Given the description of an element on the screen output the (x, y) to click on. 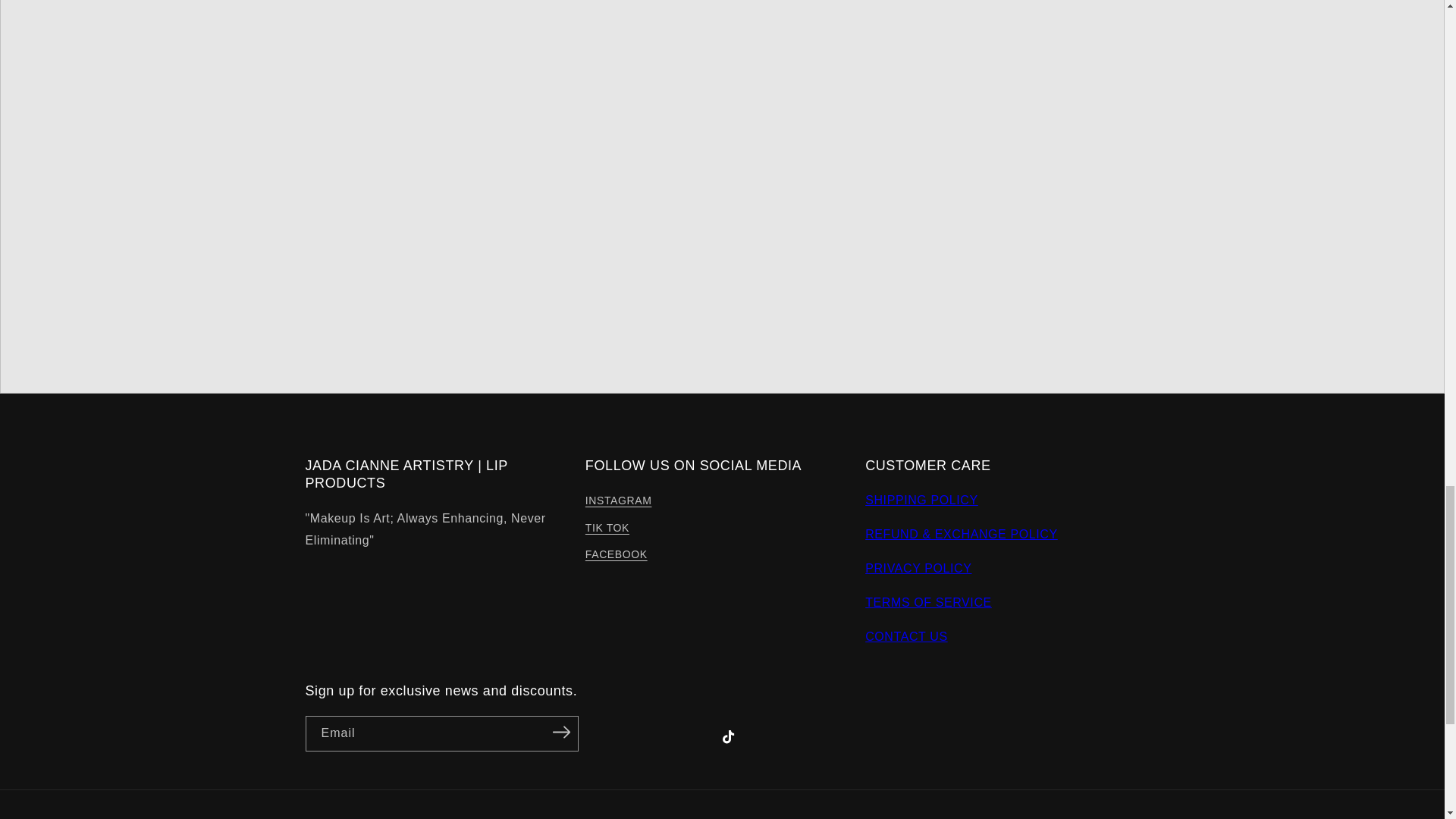
Shipping Policy (921, 499)
Refund Policy (961, 533)
SHIPPING POLICY (921, 499)
Privacy Policy (917, 567)
PRIVACY POLICY (917, 567)
TIK TOK (606, 528)
Terms of Service (927, 602)
CONTACT US (905, 635)
FACEBOOK (616, 554)
Contact Information (905, 635)
INSTAGRAM (618, 502)
TERMS OF SERVICE (927, 602)
